Given the description of an element on the screen output the (x, y) to click on. 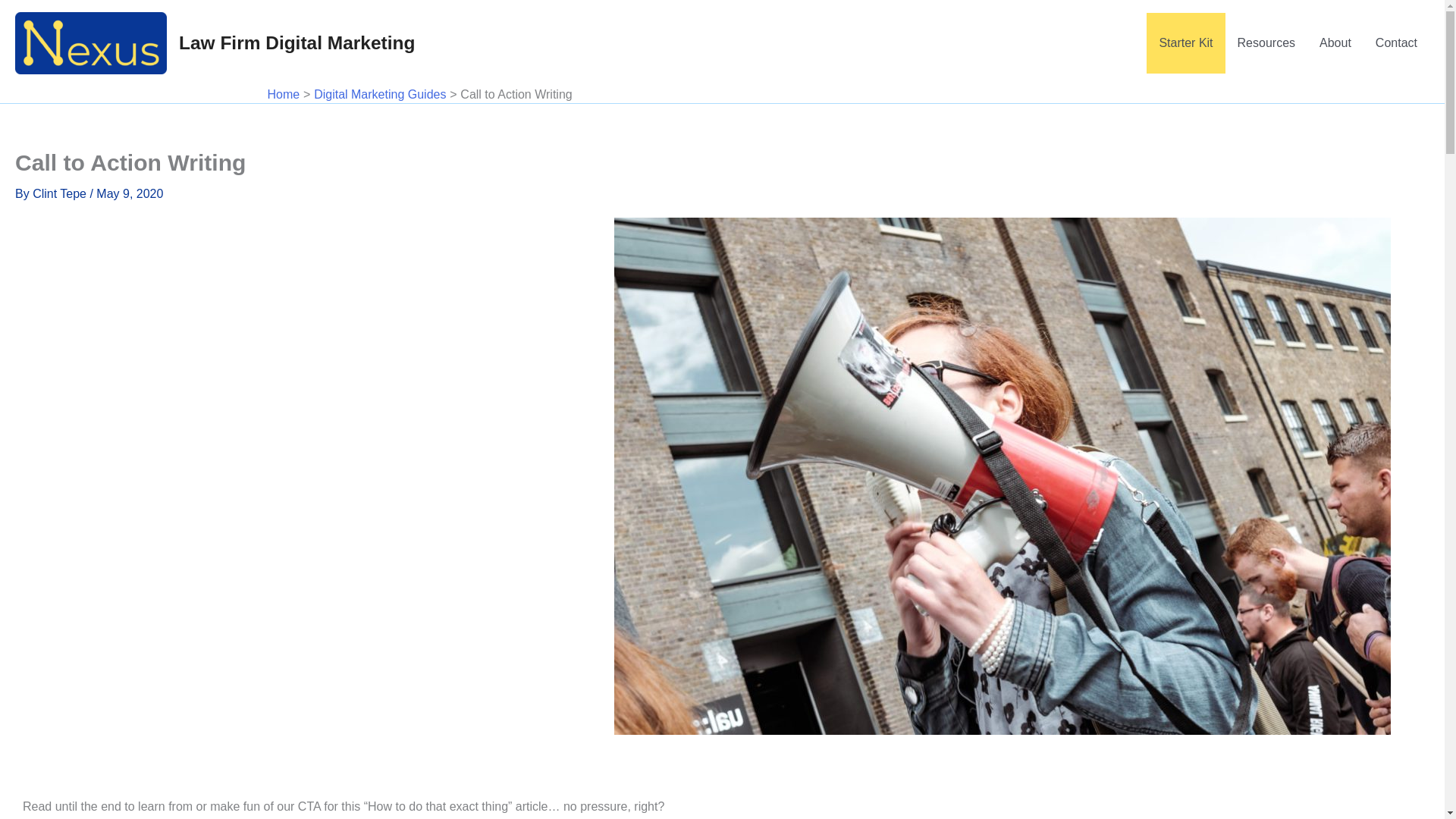
About (1334, 43)
Contact (1395, 43)
Digital Marketing Guides (379, 93)
Home (282, 93)
Law Firm Digital Marketing (296, 42)
Clint Tepe (60, 193)
Starter Kit (1185, 43)
View all posts by Clint Tepe (60, 193)
Resources (1266, 43)
